Given the description of an element on the screen output the (x, y) to click on. 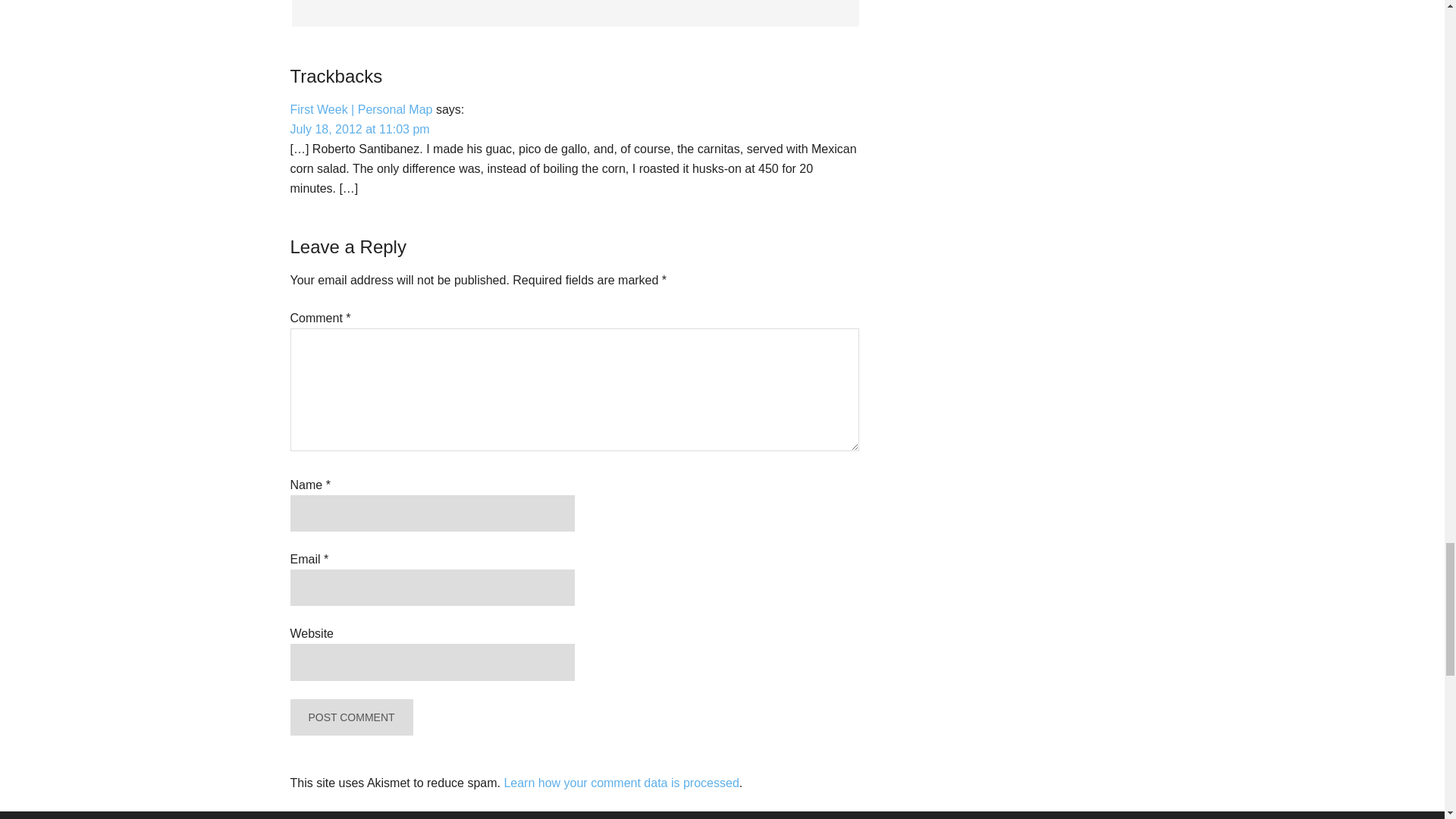
Post Comment (350, 717)
July 18, 2012 at 11:03 pm (359, 128)
Learn how your comment data is processed (620, 782)
Post Comment (350, 717)
